Given the description of an element on the screen output the (x, y) to click on. 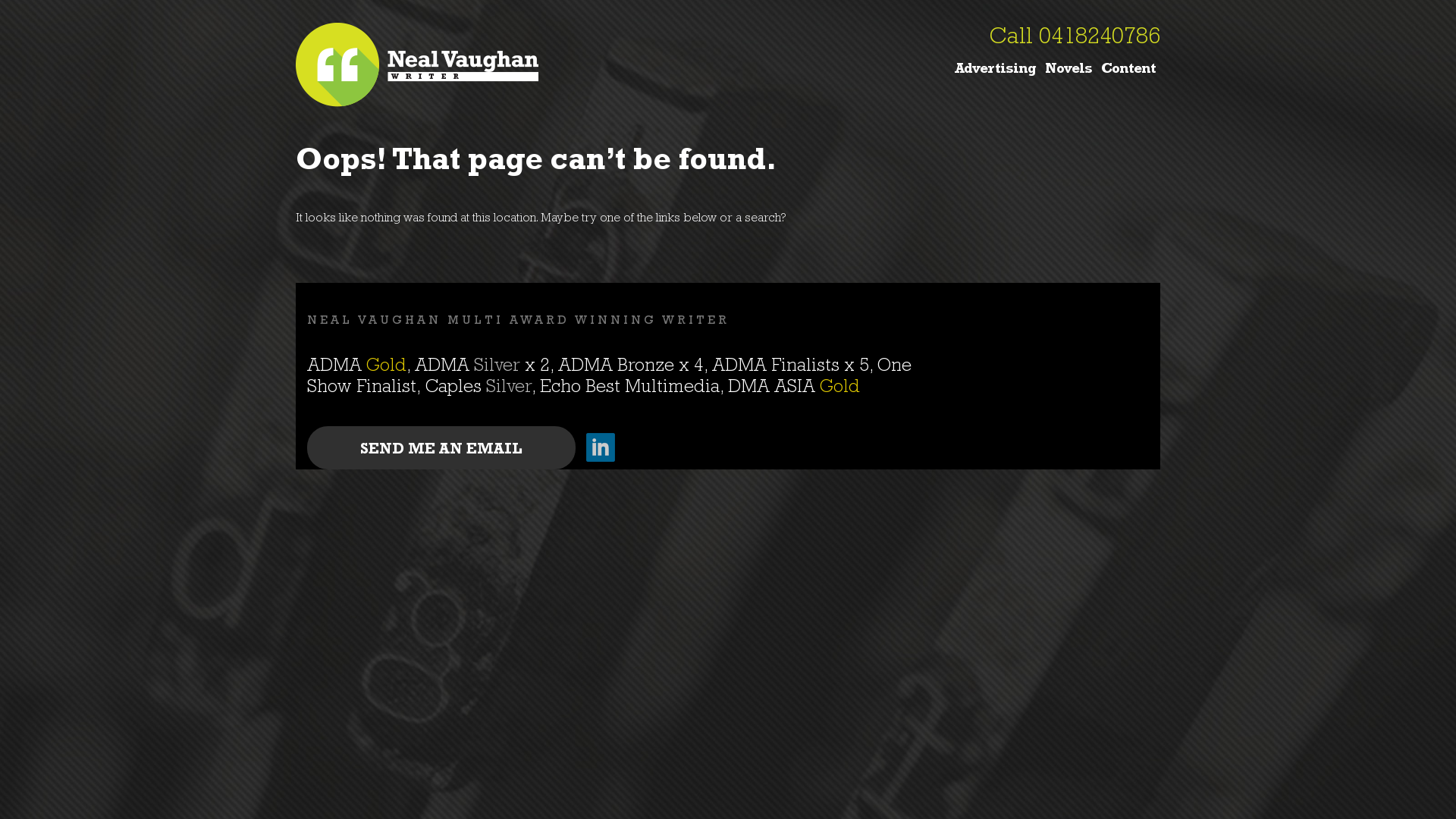
Content Element type: text (1128, 68)
Novels Element type: text (1068, 68)
SEND ME AN EMAIL Element type: text (441, 447)
Advertising Element type: text (995, 68)
